Given the description of an element on the screen output the (x, y) to click on. 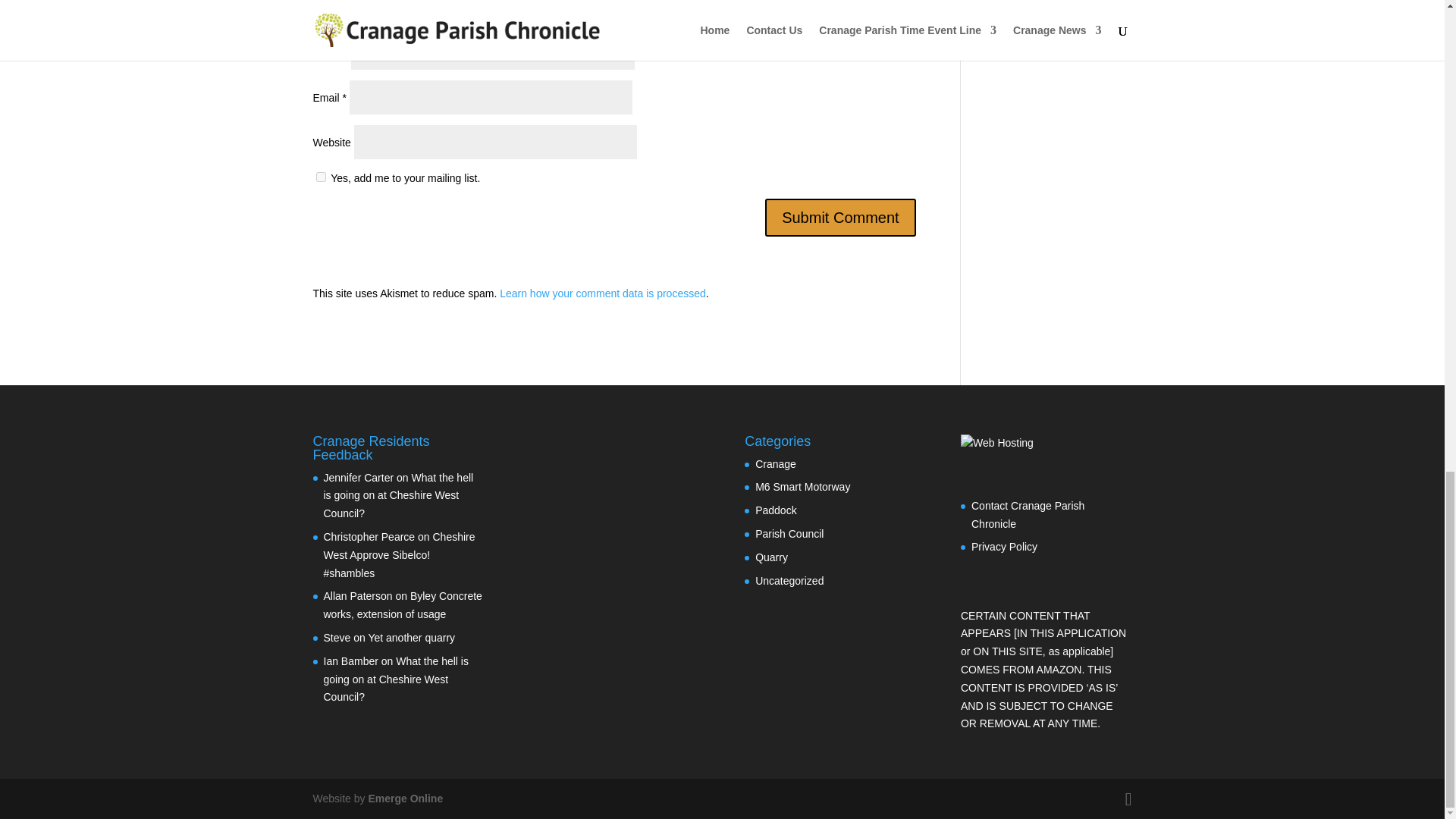
Uncategorized (789, 580)
M6 Smart Motorway (802, 486)
Quarry (771, 557)
1 (319, 176)
Cranage (775, 463)
Paddock (775, 510)
Parish Council (789, 533)
Byley Concrete works, extension of usage (402, 604)
Yet another quarry (411, 637)
What the hell is going on at Cheshire West Council? (395, 679)
